Given the description of an element on the screen output the (x, y) to click on. 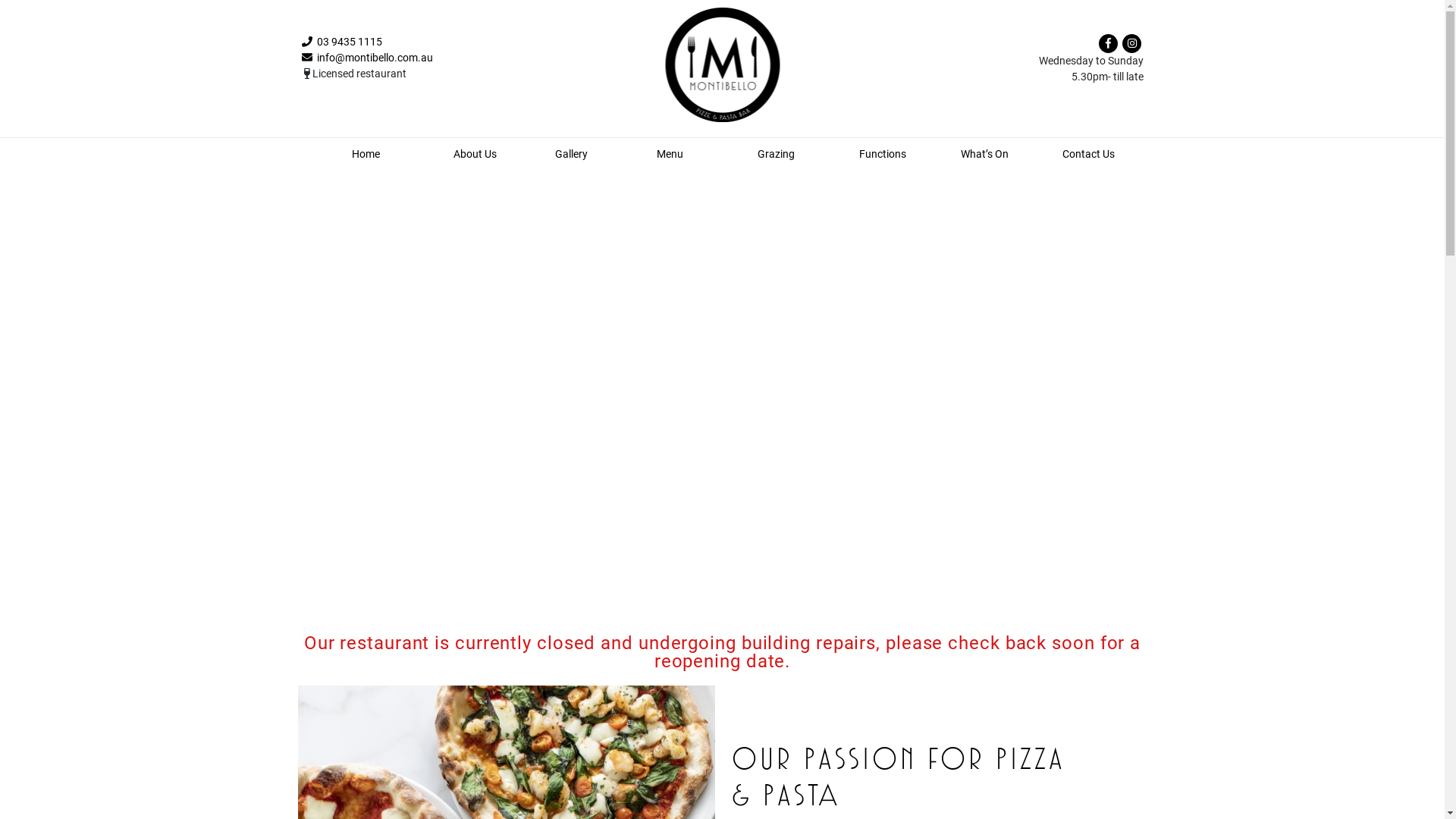
Gallery Element type: text (571, 153)
Home Element type: text (365, 153)
About Us Element type: text (474, 153)
03 9435 1115 Element type: text (341, 41)
Menu Element type: text (669, 153)
Contact Us Element type: text (1088, 153)
info@montibello.com.au Element type: text (367, 57)
Grazing Element type: text (775, 153)
Functions Element type: text (882, 153)
